Given the description of an element on the screen output the (x, y) to click on. 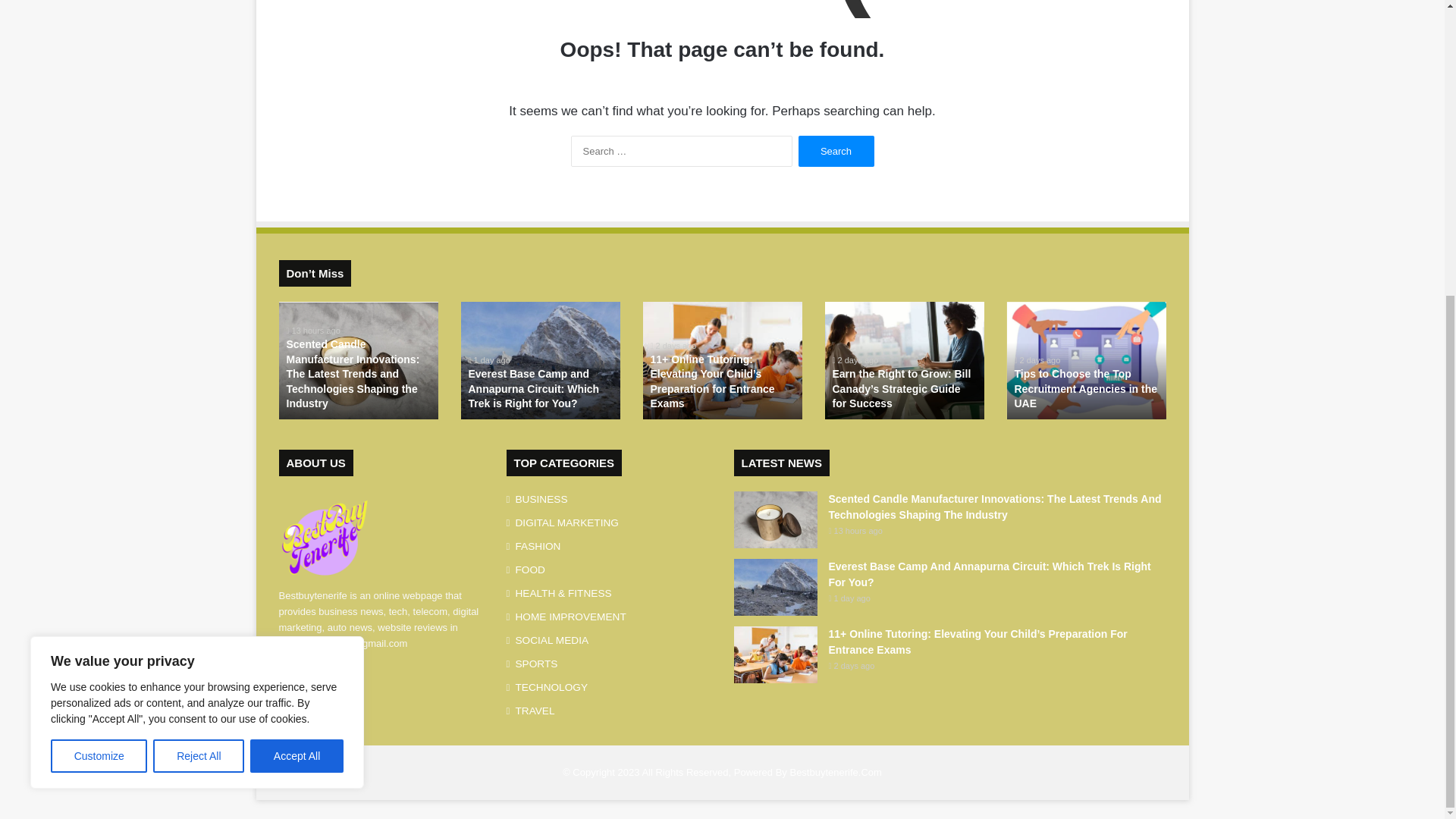
Tips to Choose the Top Recruitment Agencies in the UAE (1085, 388)
FASHION (537, 546)
Search (835, 151)
DIGITAL MARKETING (566, 522)
Reject All (198, 299)
Search (835, 151)
BUSINESS (541, 498)
